Given the description of an element on the screen output the (x, y) to click on. 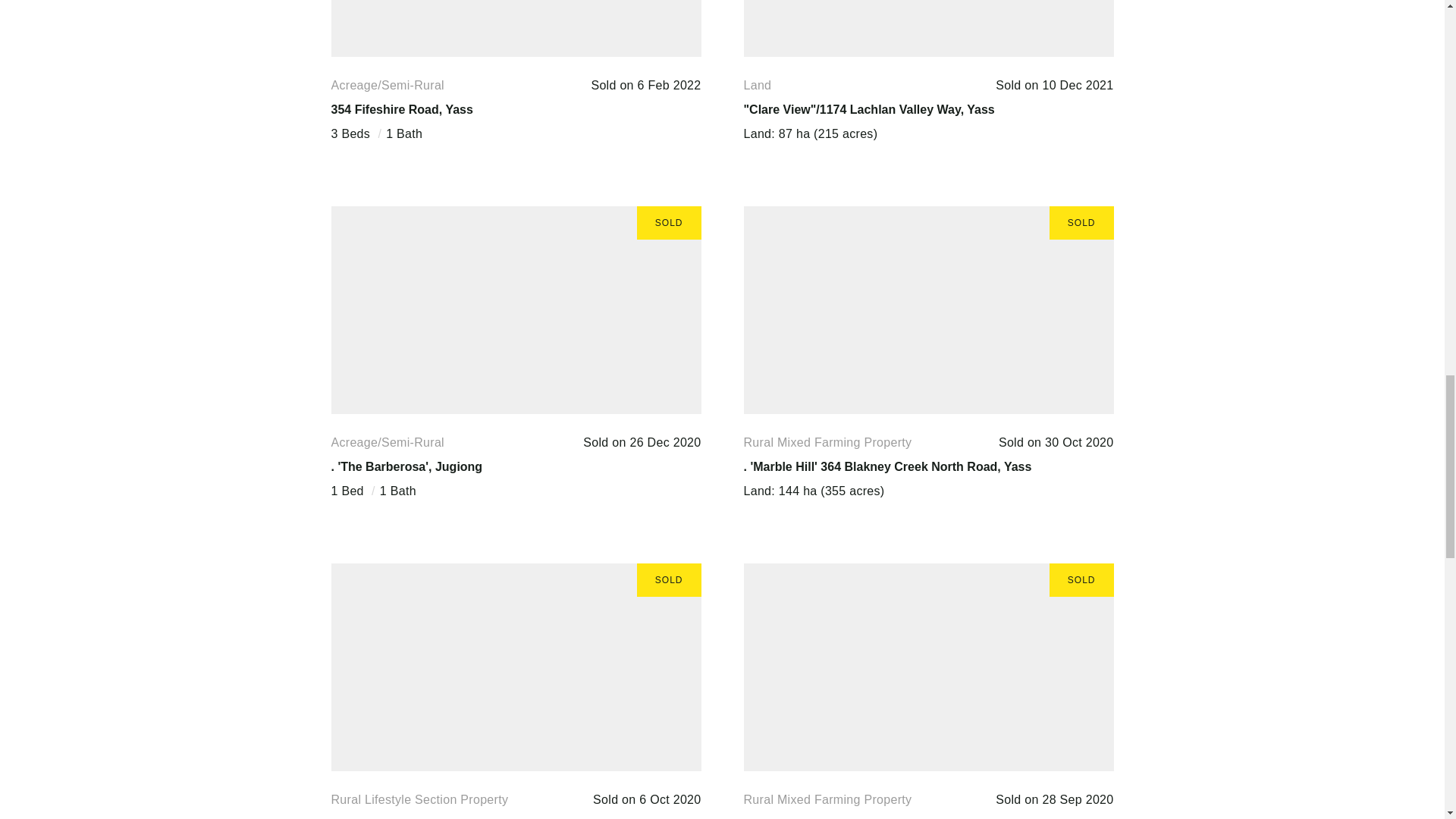
. 'The Barberosa', Jugiong (405, 466)
354 Fifeshire Road, Yass (400, 109)
SOLD (927, 28)
SOLD (927, 667)
SOLD (515, 310)
SOLD (927, 310)
SOLD (515, 667)
. 'Marble Hill' 364 Blakney Creek North Road, Yass (886, 466)
SOLD (515, 28)
